Given the description of an element on the screen output the (x, y) to click on. 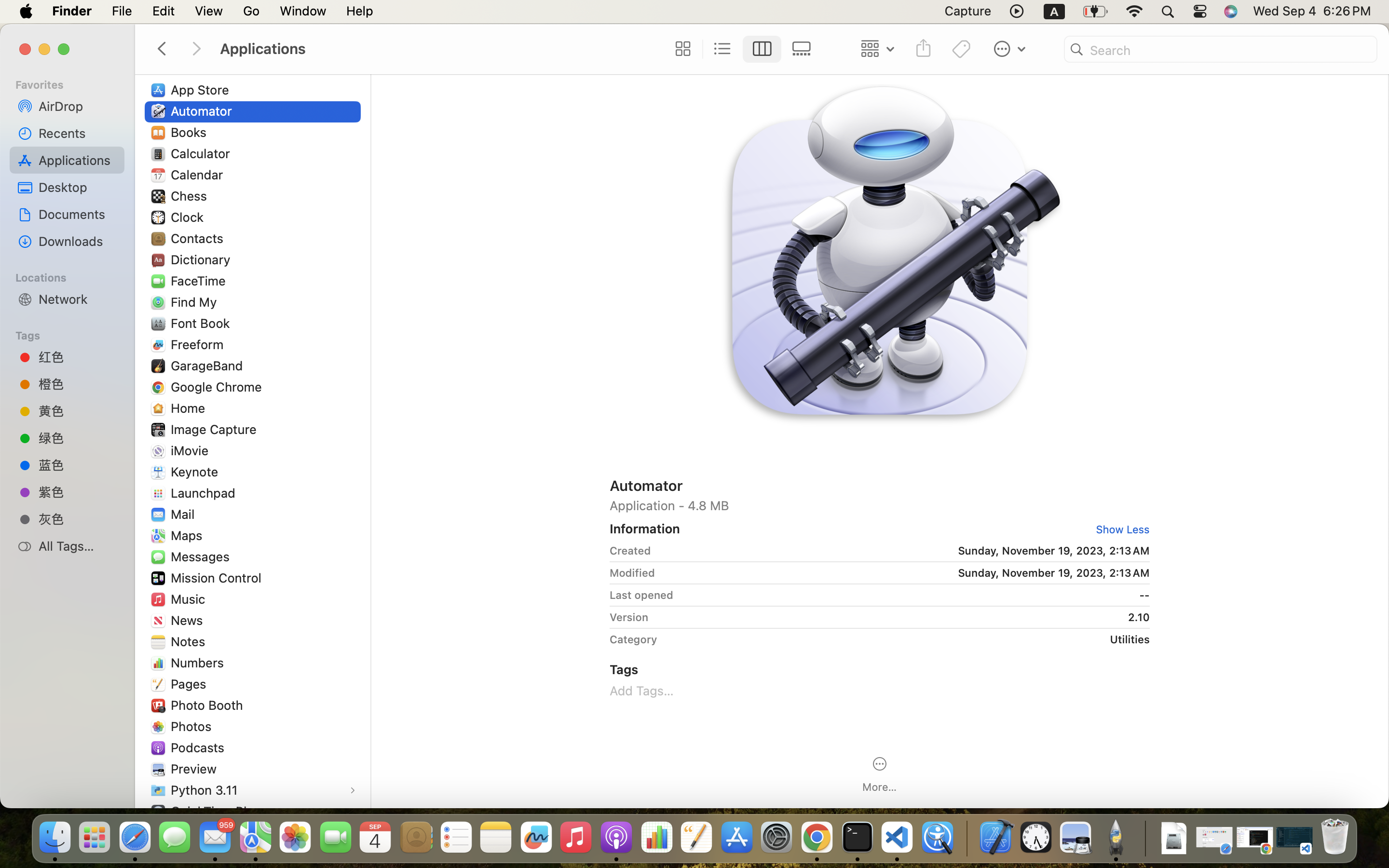
iMovie Element type: AXTextField (191, 450)
0.0 Element type: AXValueIndicator (364, 324)
Locations Element type: AXStaticText (72, 276)
Last opened Element type: AXStaticText (641, 594)
Home Element type: AXTextField (189, 407)
